Given the description of an element on the screen output the (x, y) to click on. 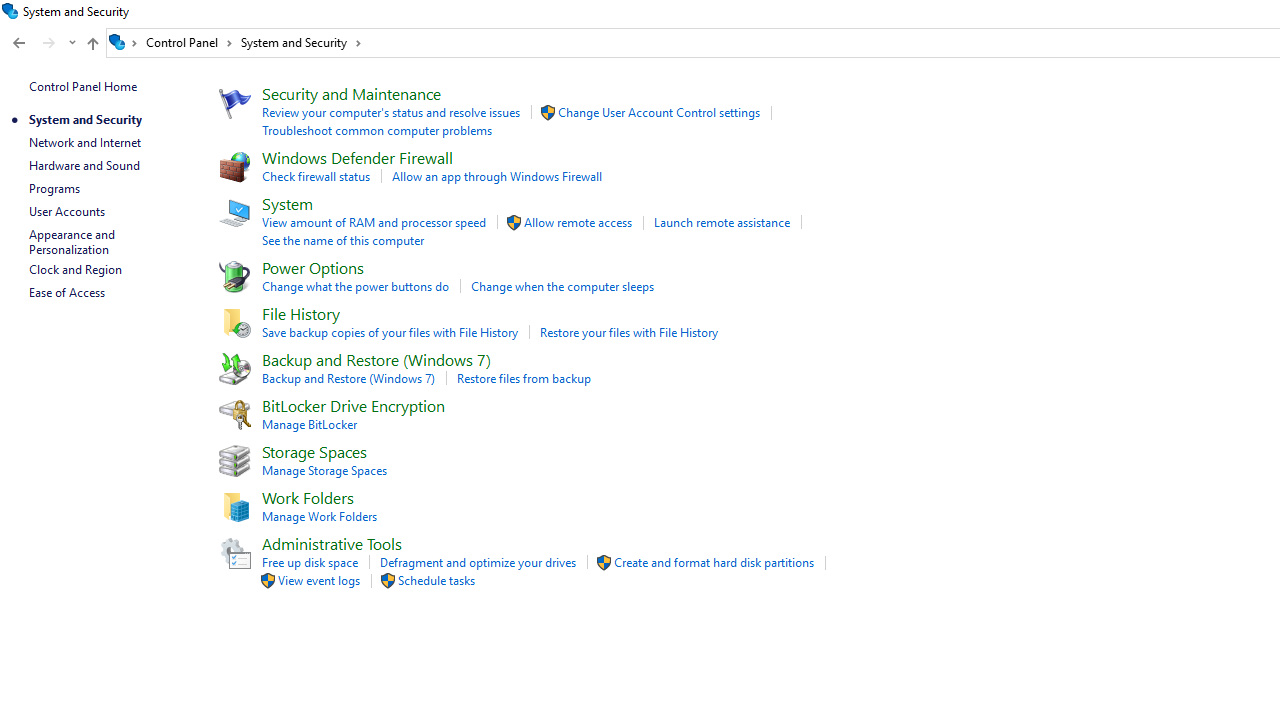
Create and format hard disk partitions (713, 562)
Change User Account Control settings (658, 112)
Navigation buttons (41, 43)
Forward (Alt + Right Arrow) (49, 43)
Free up disk space (309, 562)
Appearance and Personalization (73, 241)
Security and Maintenance (350, 92)
BitLocker Drive Encryption (352, 405)
Review your computer's status and resolve issues (390, 112)
Manage Work Folders (318, 516)
Manage Storage Spaces (324, 470)
Manage BitLocker (308, 424)
All locations (124, 42)
Hardware and Sound (84, 164)
See the name of this computer (342, 240)
